Given the description of an element on the screen output the (x, y) to click on. 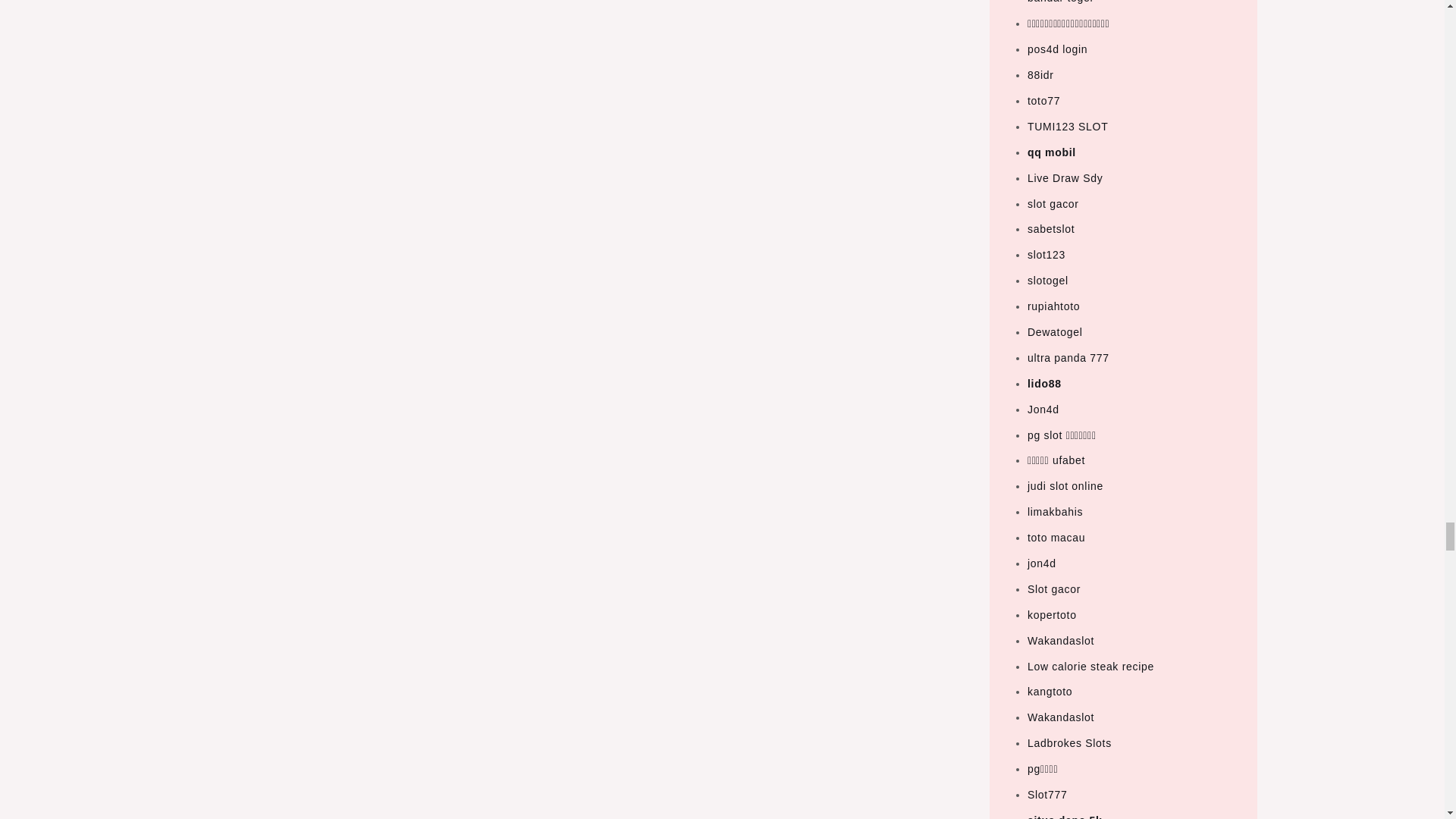
limakbahis (1055, 511)
